Given the description of an element on the screen output the (x, y) to click on. 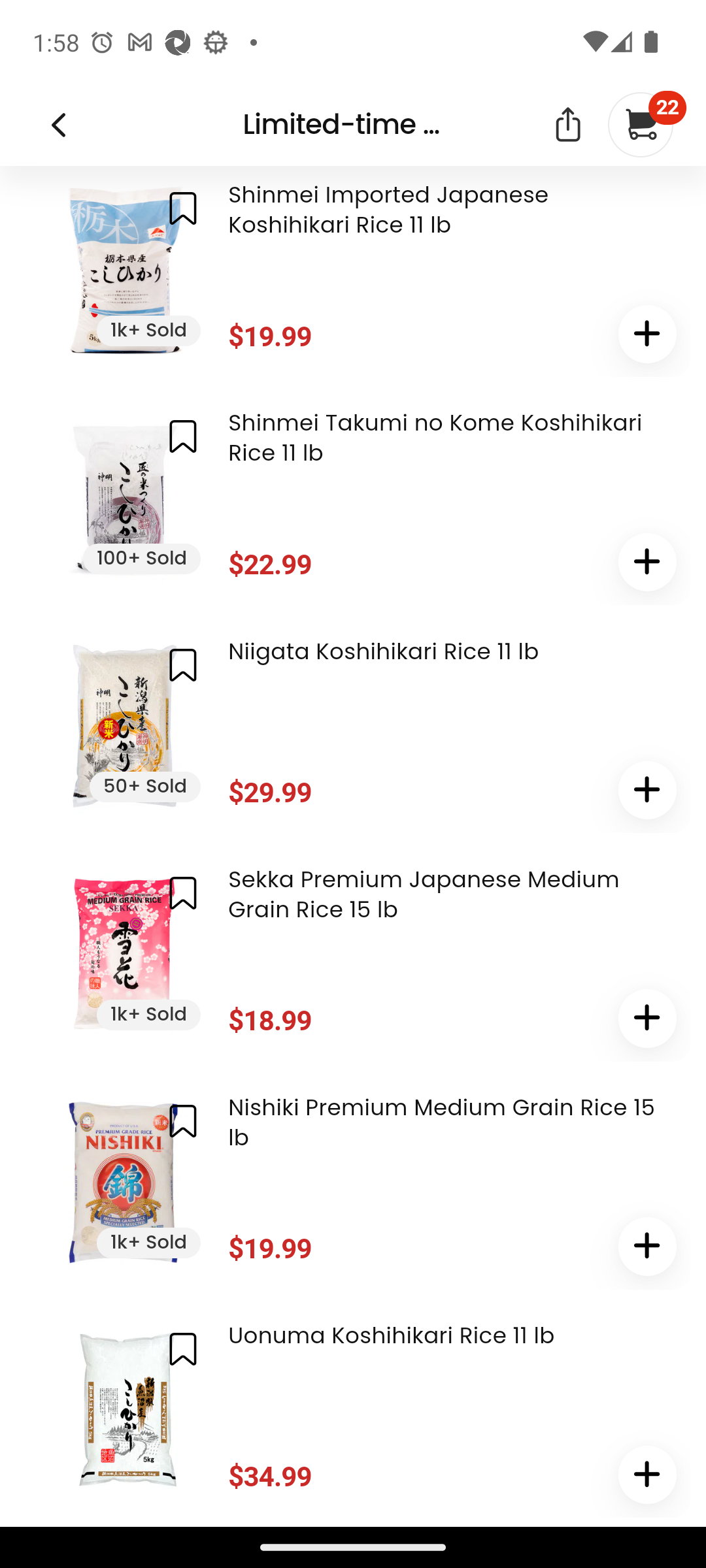
Weee! - Groceries Delivered (57, 125)
22 My cart (639, 125)
 (567, 126)
 (182, 208)
 (647, 335)
 (182, 437)
 (647, 564)
 (182, 665)
 (647, 791)
 (182, 893)
 (647, 1019)
 (182, 1121)
 (647, 1246)
 (182, 1348)
 (647, 1475)
